Given the description of an element on the screen output the (x, y) to click on. 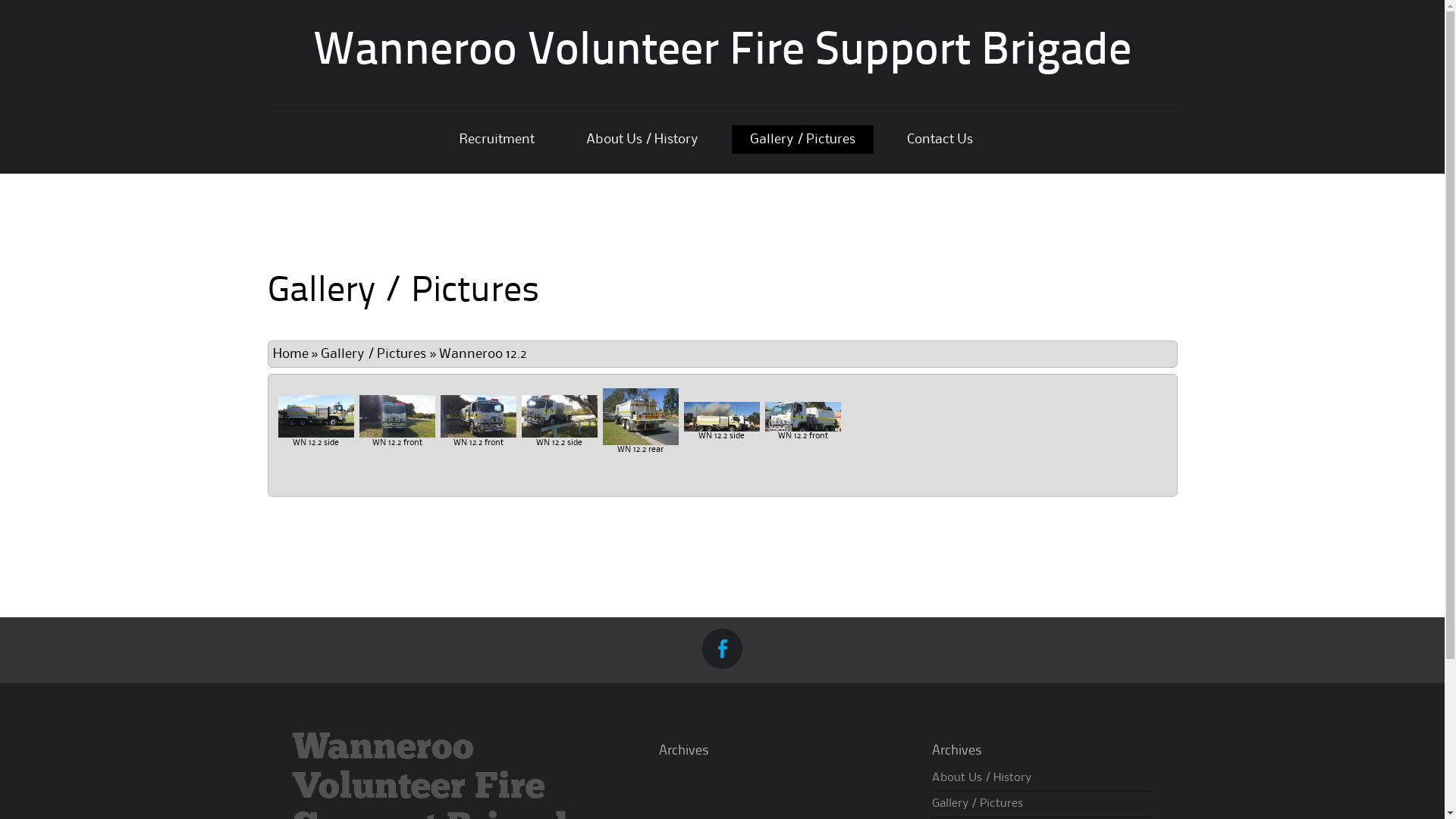
WN 12.2 rear Element type: hover (639, 416)
WN 12.2 side Element type: hover (721, 416)
Contact Us Element type: text (939, 139)
WN 12.2 side Element type: hover (315, 416)
Recruitment Element type: text (496, 139)
Skip to content Element type: text (312, 129)
WN 12.2 front Element type: hover (397, 416)
WN 12.2 front Element type: hover (477, 416)
WN 12.2 front Element type: hover (802, 416)
Gallery / Pictures Element type: text (802, 139)
Home Element type: text (290, 354)
About Us / History Element type: text (642, 139)
About Us / History Element type: text (980, 777)
WN 12.2 side Element type: hover (559, 416)
Gallery / Pictures Element type: text (976, 803)
Gallery / Pictures Element type: text (373, 354)
Wanneroo Volunteer Fire Support Brigade Element type: text (722, 52)
